Given the description of an element on the screen output the (x, y) to click on. 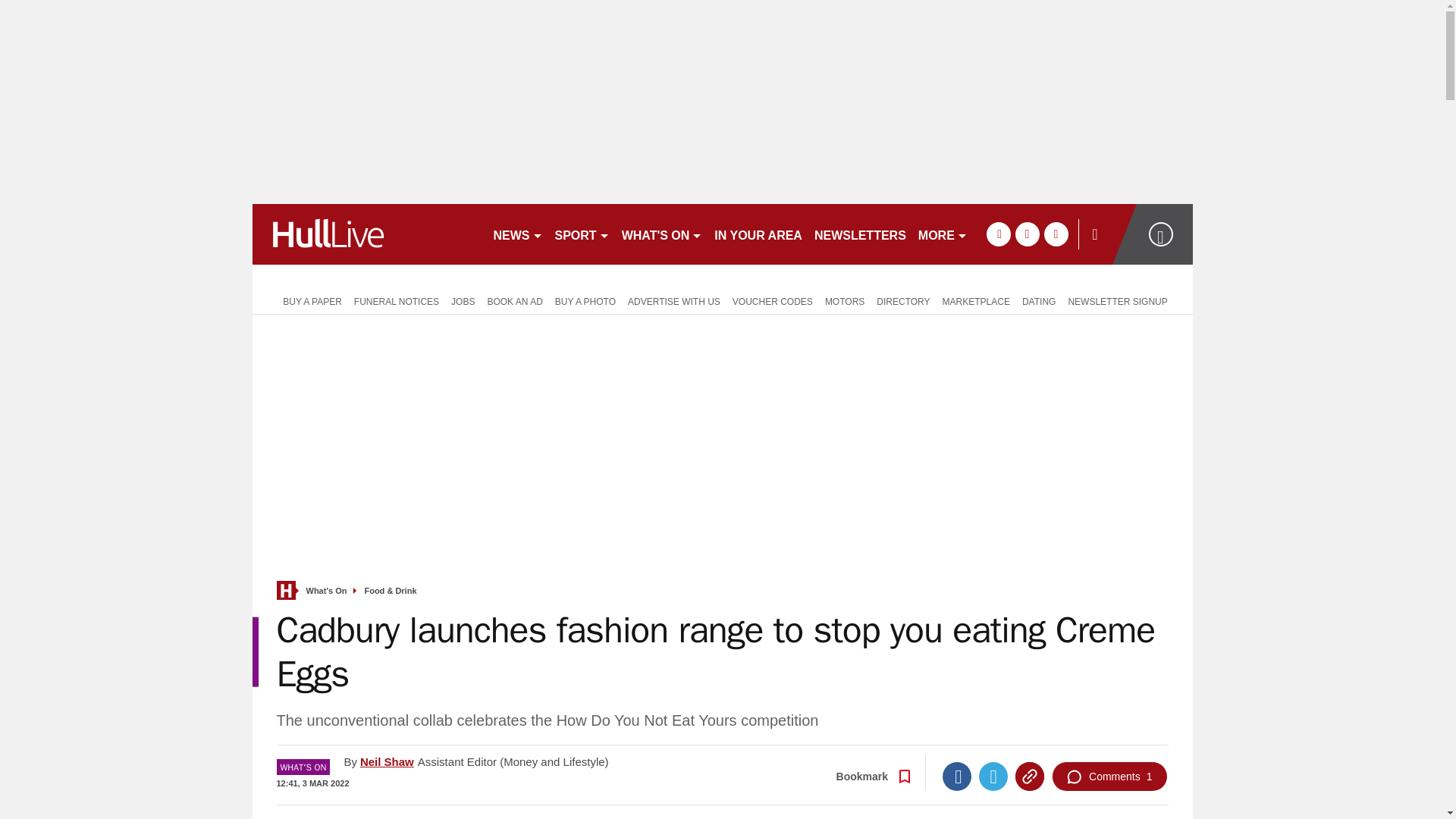
facebook (997, 233)
WHAT'S ON (662, 233)
Comments (1108, 776)
Twitter (992, 776)
Facebook (956, 776)
NEWSLETTERS (860, 233)
MORE (943, 233)
twitter (1026, 233)
IN YOUR AREA (757, 233)
SPORT (581, 233)
